Given the description of an element on the screen output the (x, y) to click on. 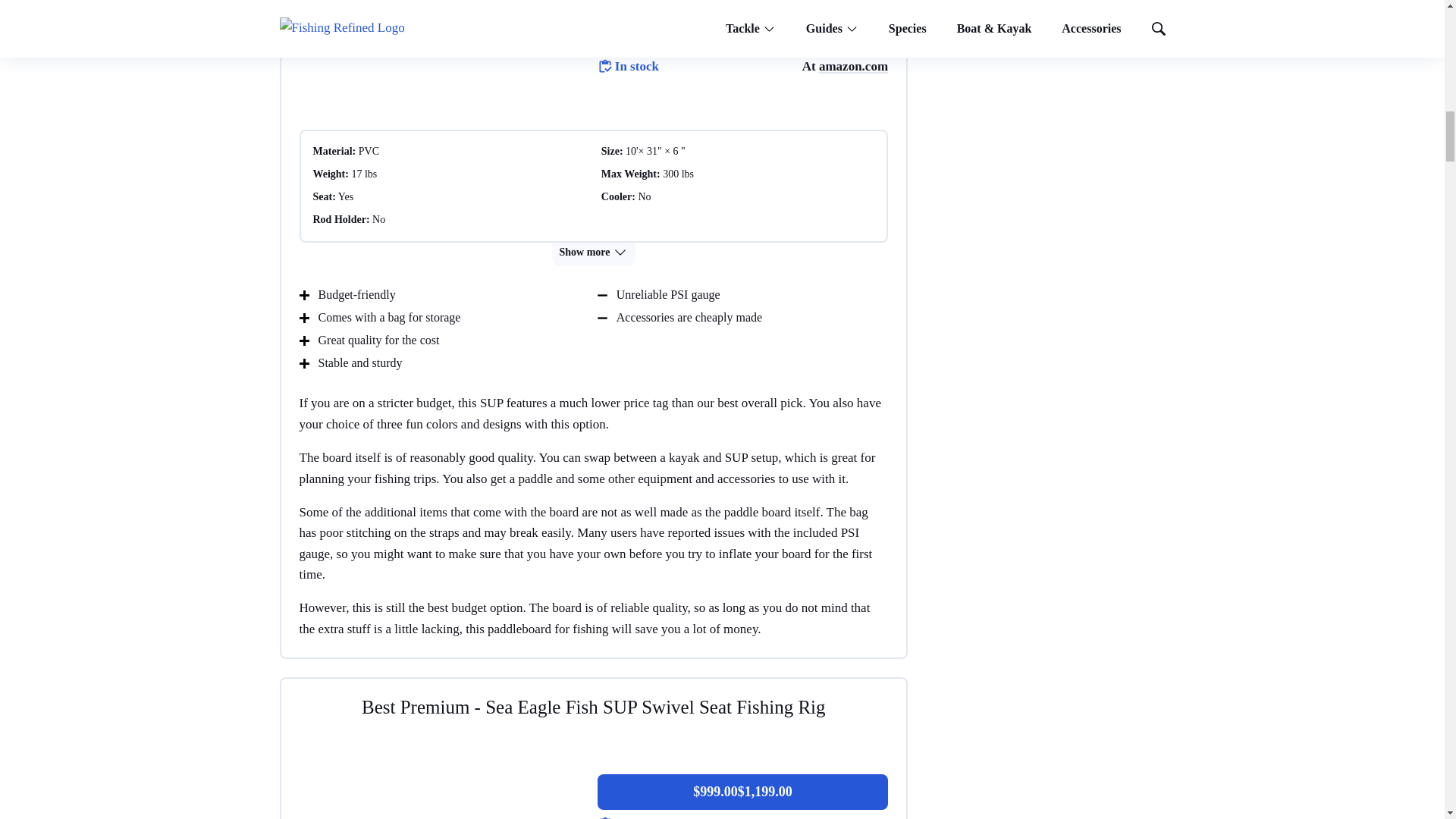
amazon.com (853, 817)
amazon.com (853, 65)
